Given the description of an element on the screen output the (x, y) to click on. 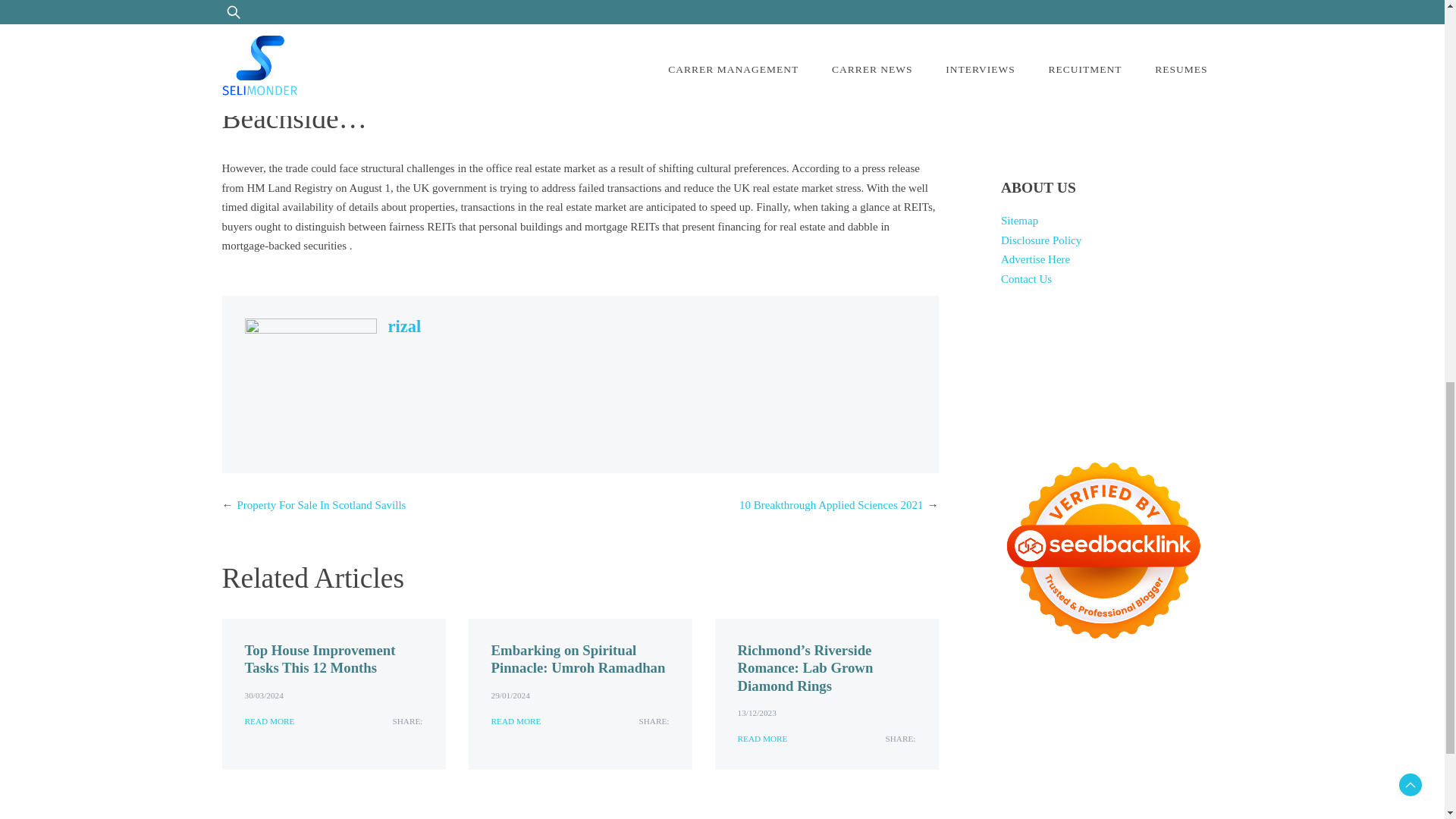
Real Estate News (570, 58)
Top House Improvement Tasks This 12 Months (319, 658)
Seedbacklink (1103, 549)
READ MORE (761, 739)
Property For Sale In Scotland Savills (320, 504)
READ MORE (516, 721)
READ MORE (269, 721)
10 Breakthrough Applied Sciences 2021 (831, 504)
rizal (405, 325)
Embarking on Spiritual Pinnacle: Umroh Ramadhan (578, 658)
